Given the description of an element on the screen output the (x, y) to click on. 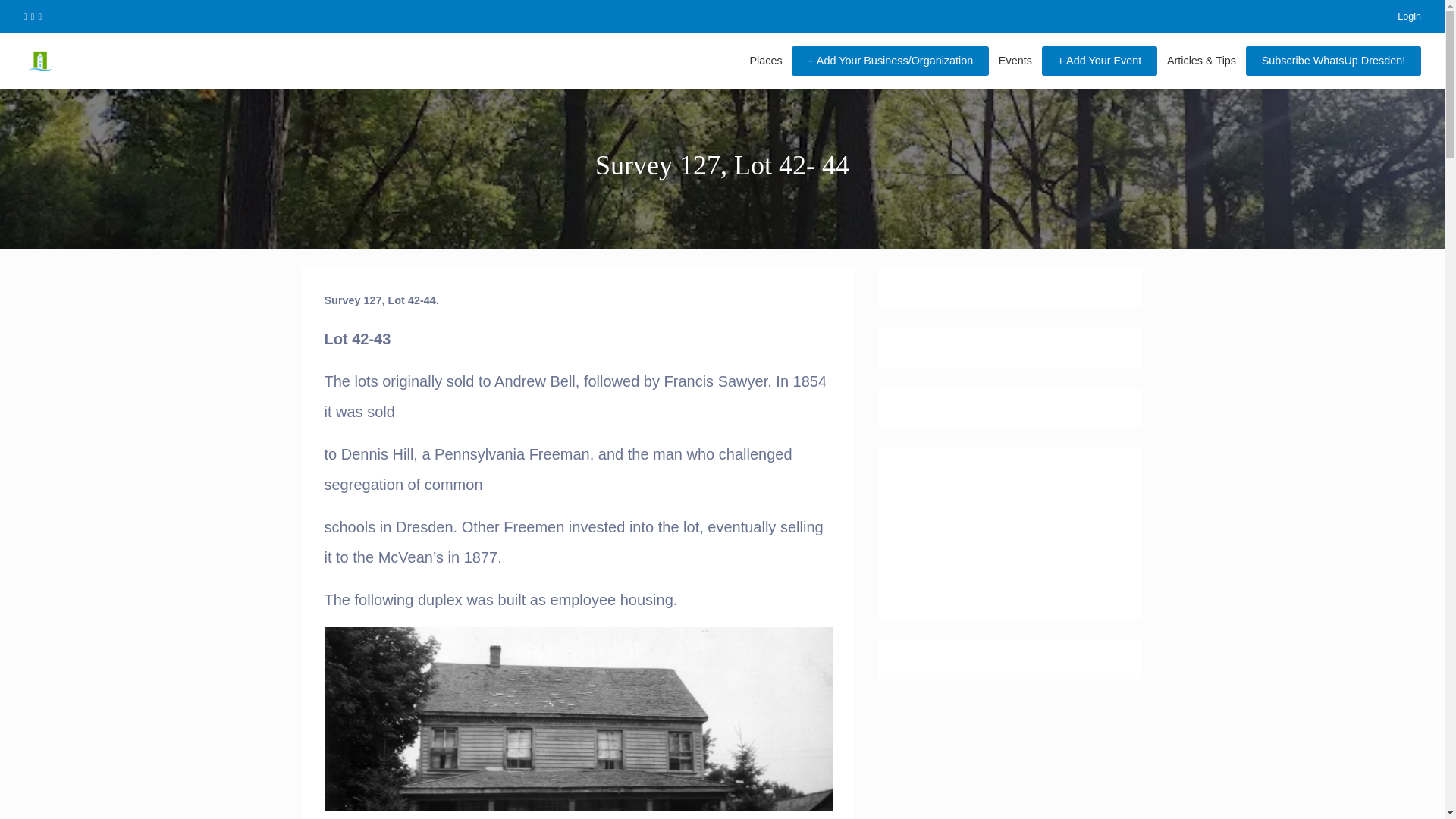
Events (1015, 60)
Login (1399, 16)
Events (1015, 60)
Places (765, 60)
Login (1399, 16)
Subscribe WhatsUp Dresden! (1333, 60)
Places (765, 60)
Subscribe WhatsUp Dresden! (1333, 60)
